Given the description of an element on the screen output the (x, y) to click on. 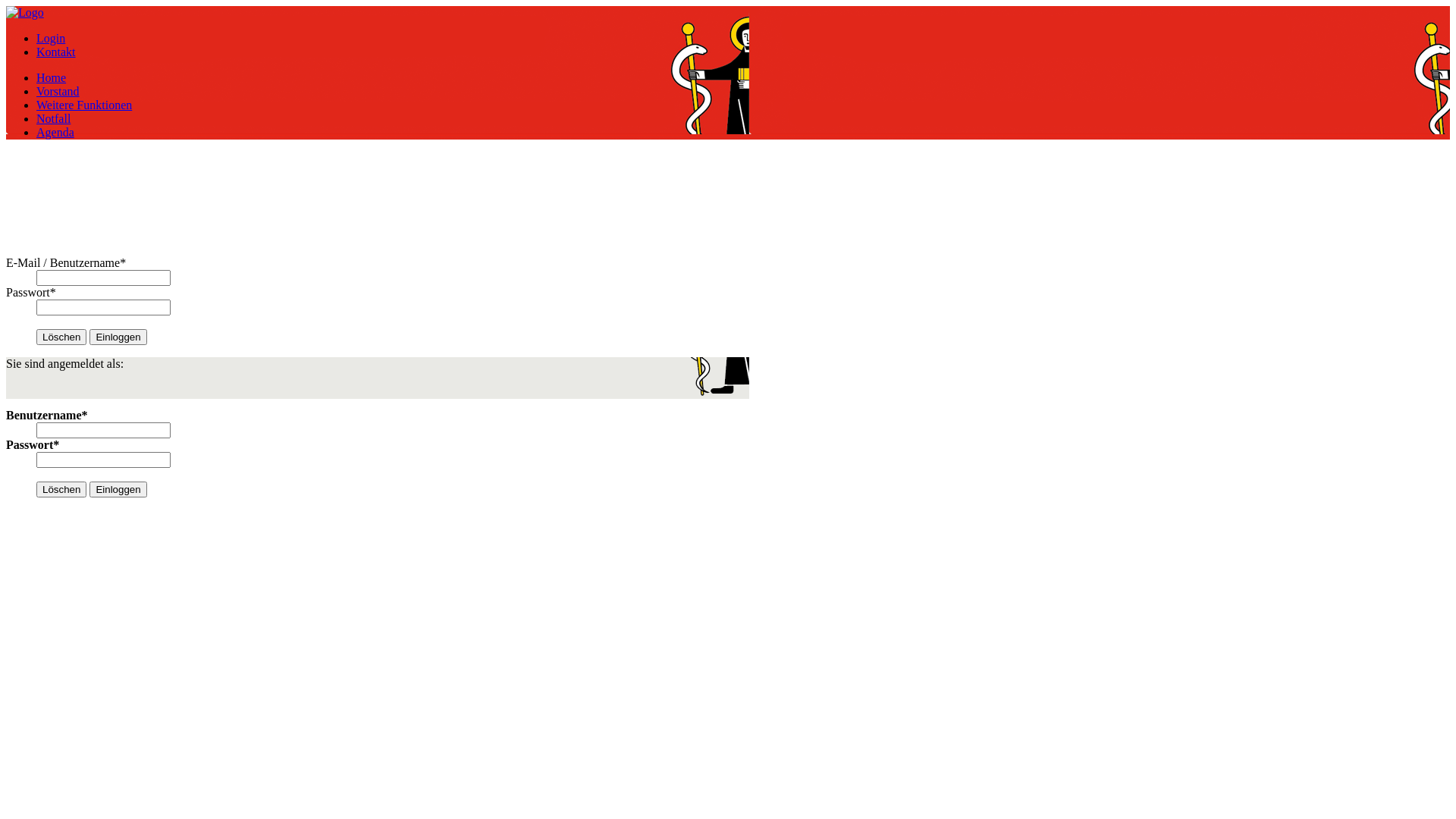
Zur Startseite Element type: hover (24, 12)
Login Element type: text (50, 37)
Einloggen Element type: text (117, 489)
Kontakt Element type: text (55, 51)
Agenda Element type: text (55, 131)
Einloggen Element type: text (117, 337)
Home Element type: text (50, 77)
Vorstand Element type: text (57, 90)
Zur Startseite Element type: hover (377, 196)
Notfall Element type: text (53, 118)
Weitere Funktionen Element type: text (83, 104)
